Given the description of an element on the screen output the (x, y) to click on. 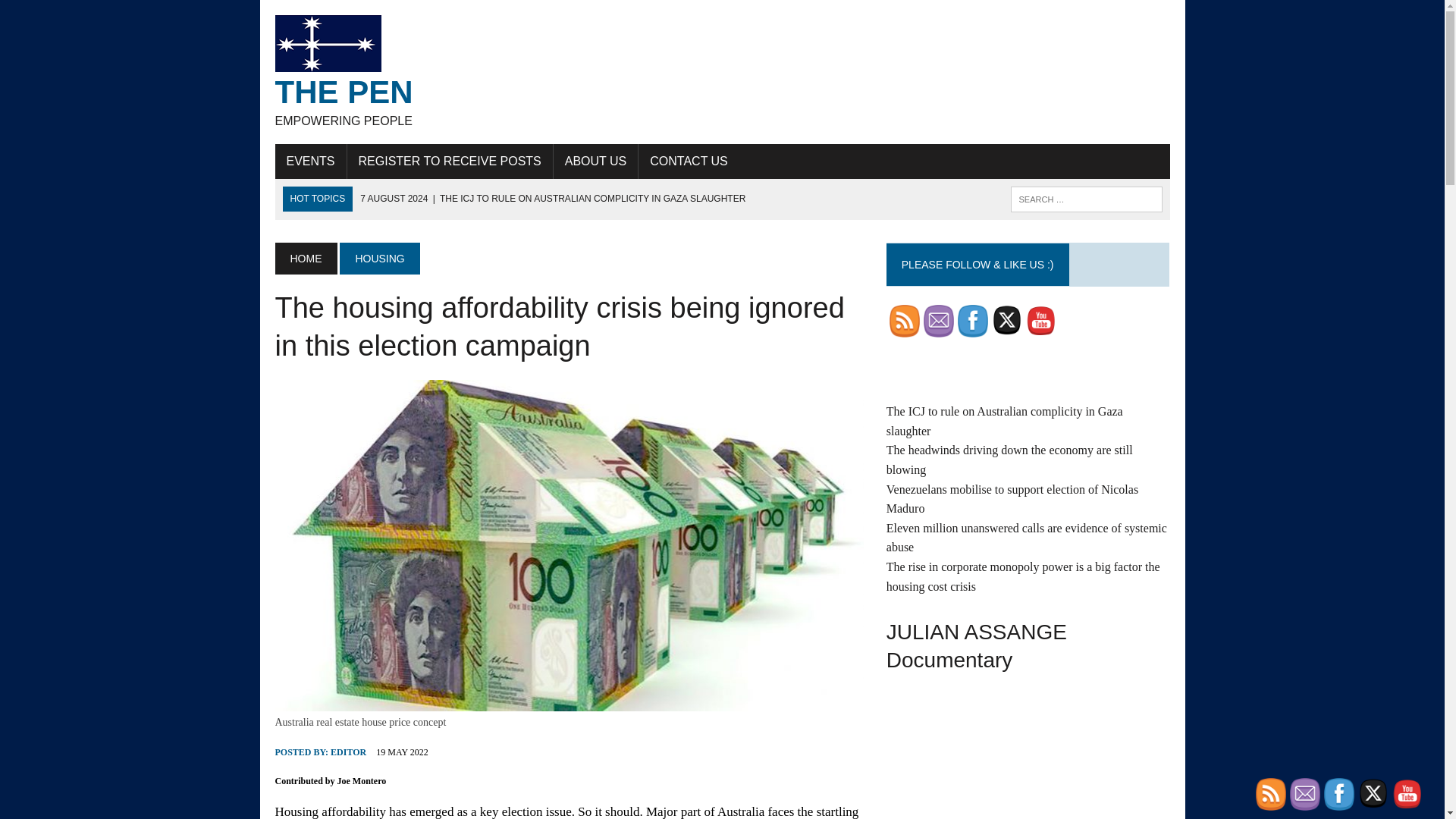
Twitter (1006, 319)
The Pen (722, 71)
EDITOR (722, 71)
HOUSING (348, 751)
REGISTER TO RECEIVE POSTS (379, 258)
ABOUT US (450, 161)
The ICJ to rule on Australian complicity in Gaza slaughter (596, 161)
Search (552, 198)
EVENTS (75, 14)
Follow by Email (310, 161)
Facebook (938, 320)
CONTACT US (973, 320)
HOME (689, 161)
